Given the description of an element on the screen output the (x, y) to click on. 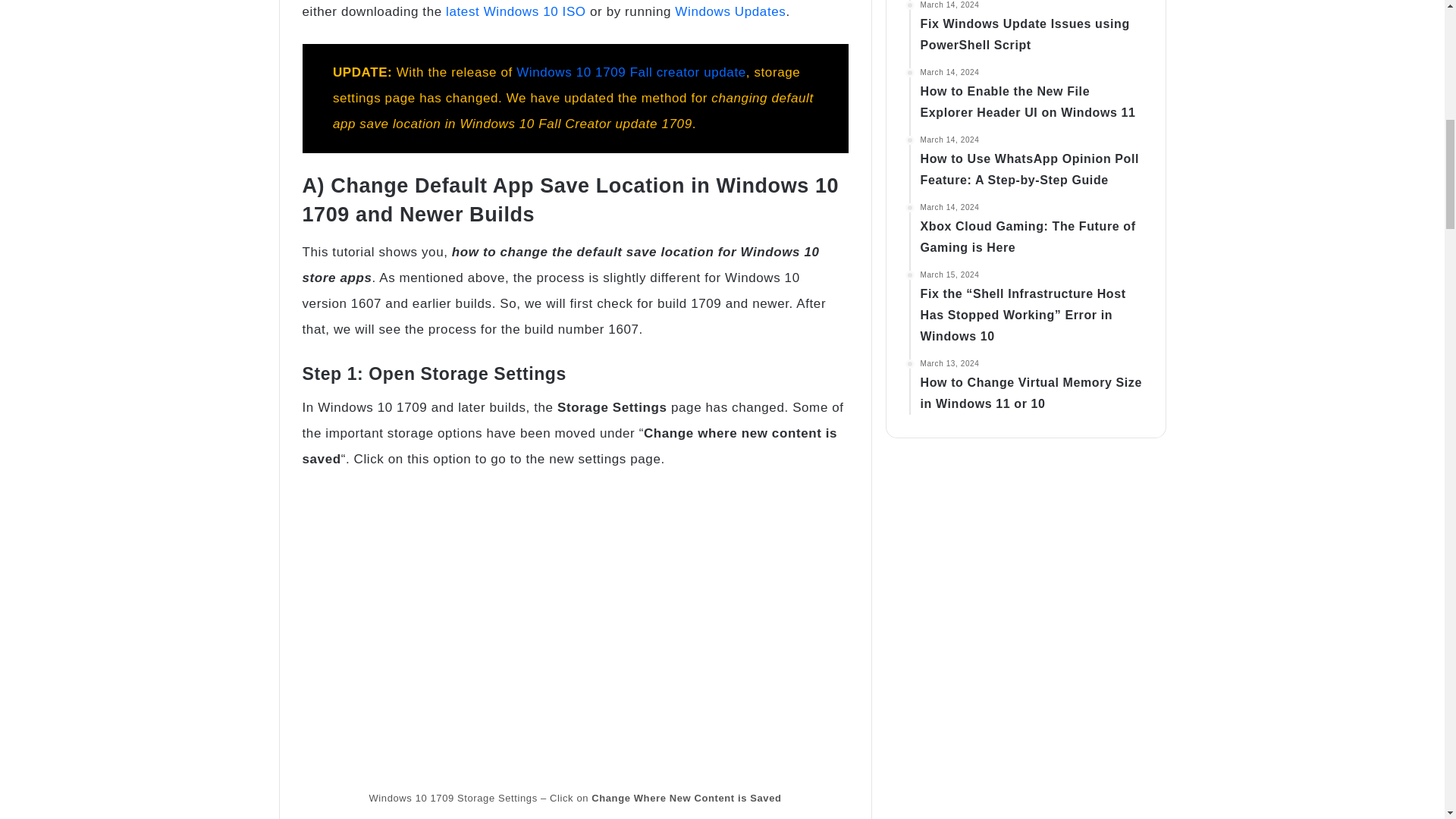
Windows Updates (730, 11)
latest Windows 10 ISO (515, 11)
Windows 10 1709 Fall creator update (630, 72)
